Given the description of an element on the screen output the (x, y) to click on. 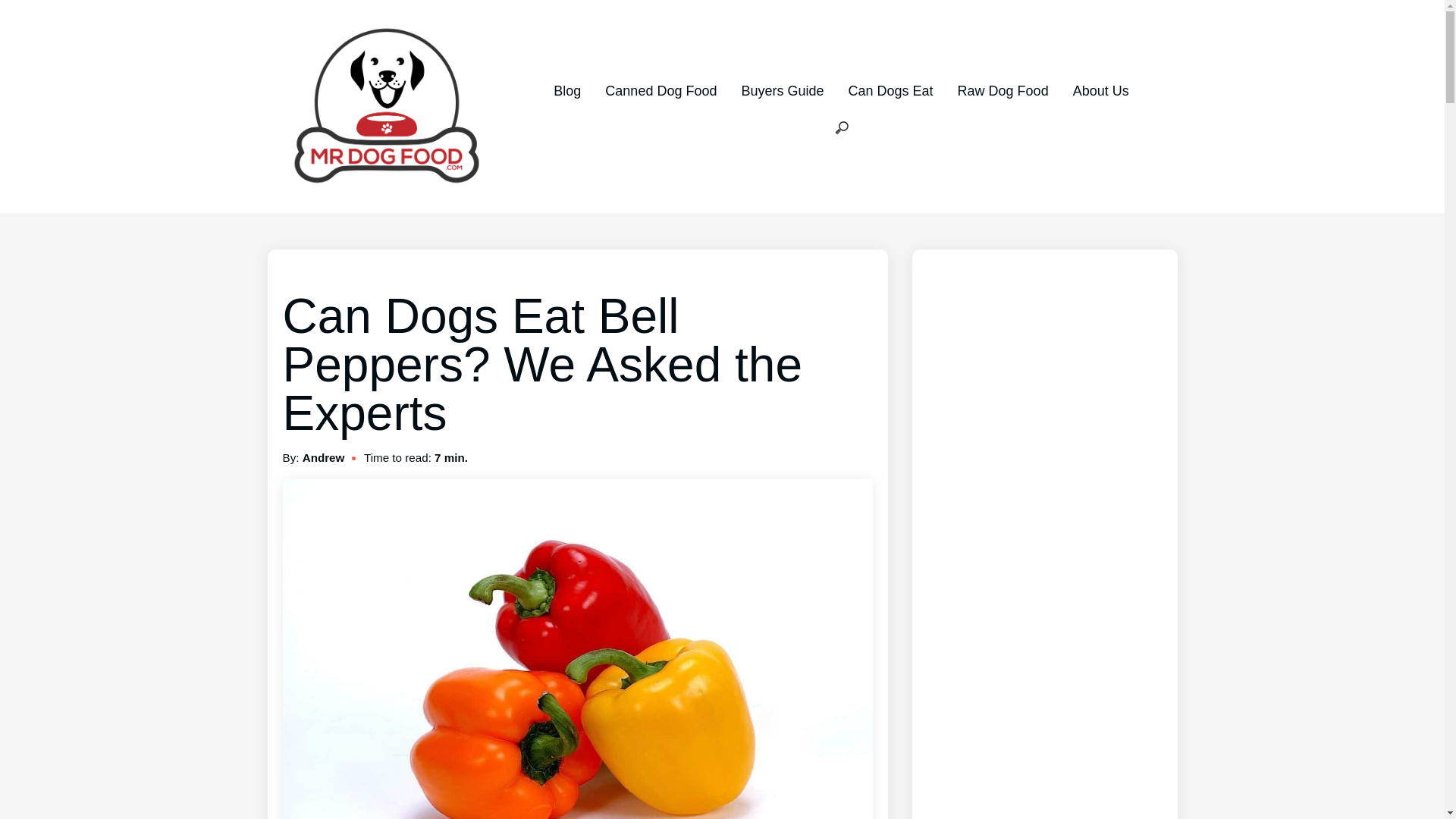
Raw Dog Food (1003, 90)
Canned Dog Food (660, 90)
Buyers Guide (782, 90)
Blog (566, 90)
About Us (1101, 90)
Can Dogs Eat (890, 90)
Search for: (841, 128)
